Given the description of an element on the screen output the (x, y) to click on. 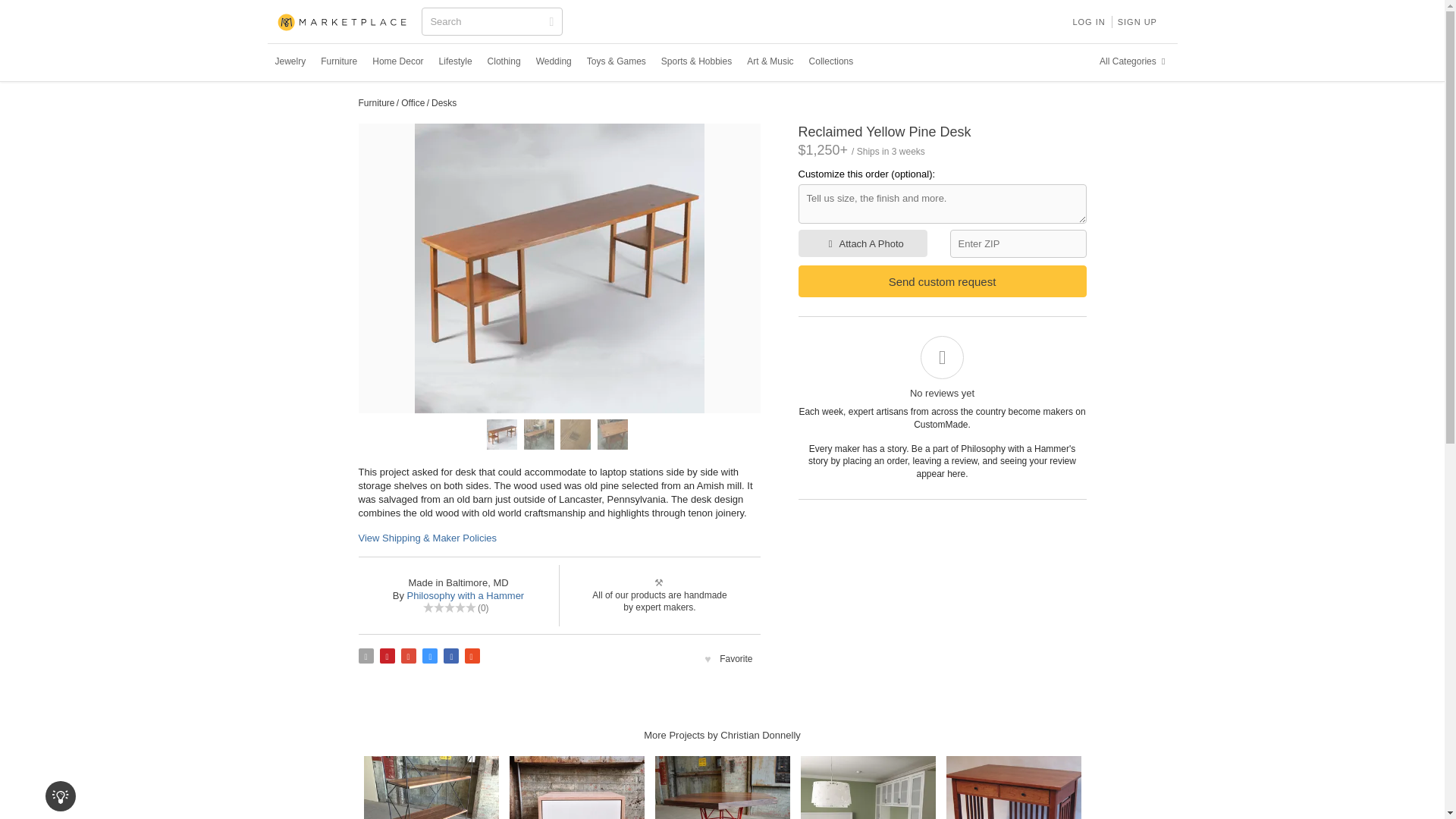
All Categories (1134, 61)
Jewelry (289, 61)
Log in to CustomMade (1087, 21)
CUSTOMMADE (342, 22)
LOG IN (1087, 21)
SIGN UP (1137, 21)
Custom Jewelry (289, 61)
